Given the description of an element on the screen output the (x, y) to click on. 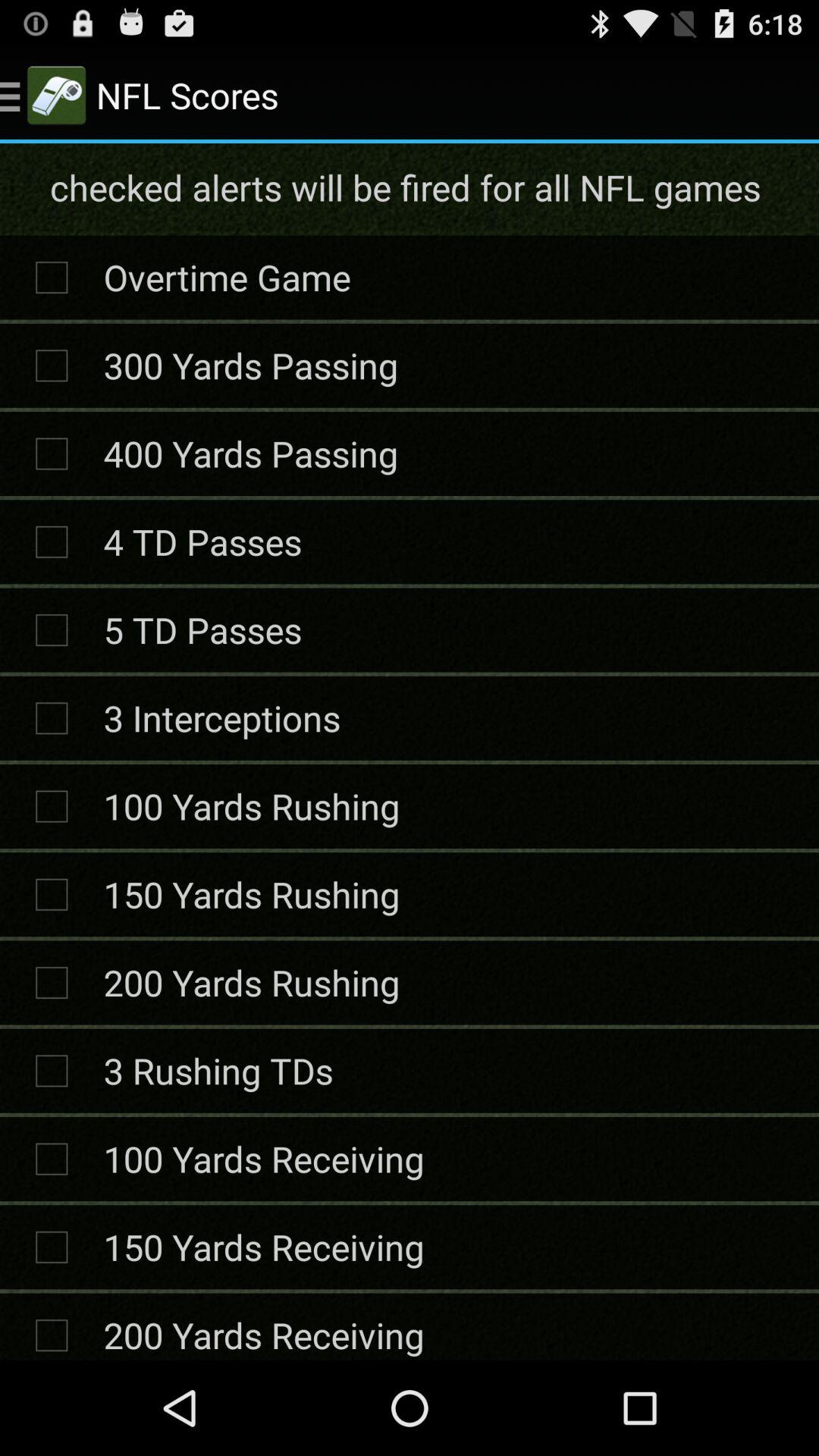
click icon below 5 td passes app (221, 717)
